Given the description of an element on the screen output the (x, y) to click on. 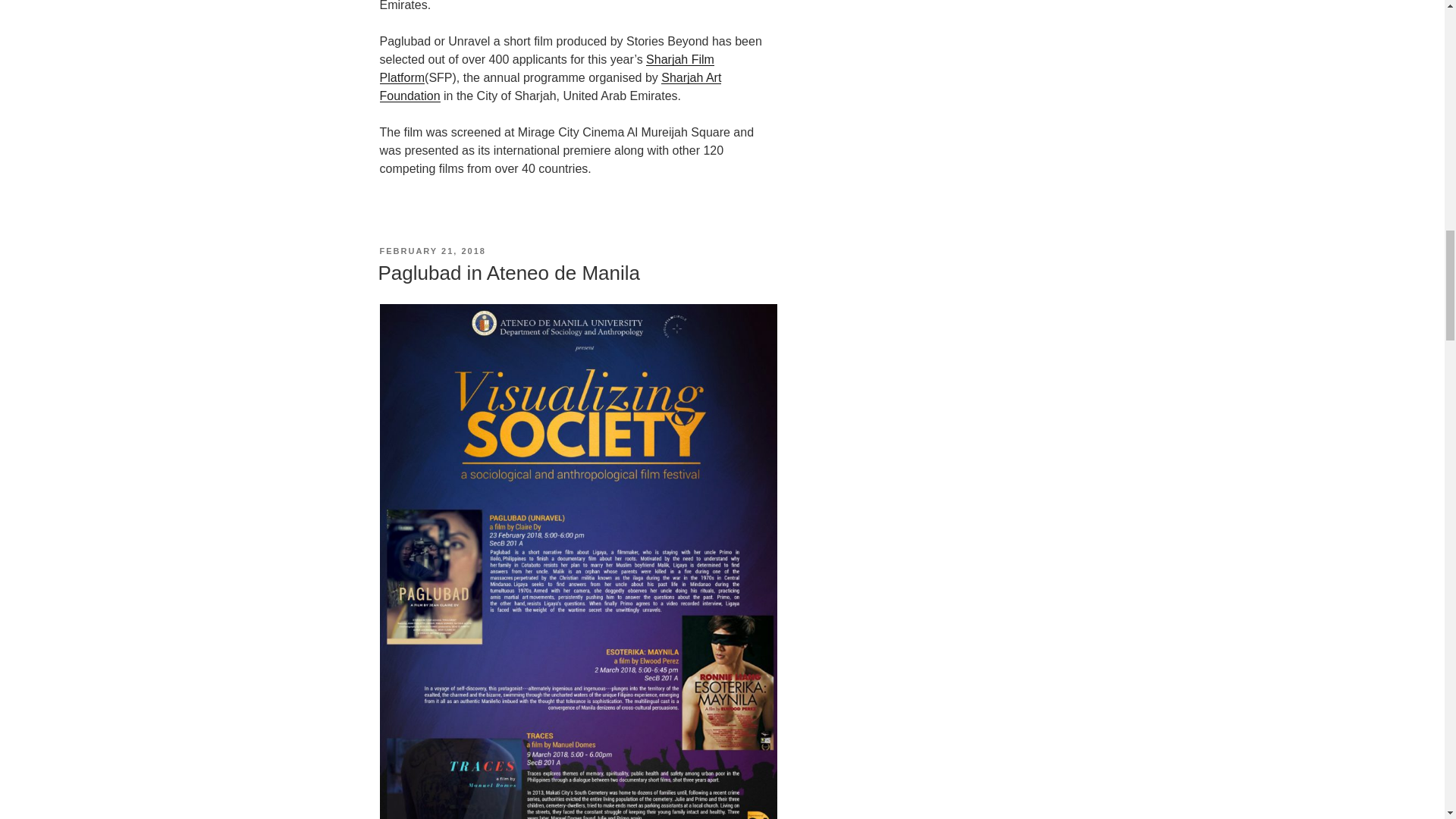
Sharjah Art Foundation (549, 86)
Sharjah Film Platform (545, 68)
Paglubad in Ateneo de Manila (508, 272)
FEBRUARY 21, 2018 (431, 250)
